Given the description of an element on the screen output the (x, y) to click on. 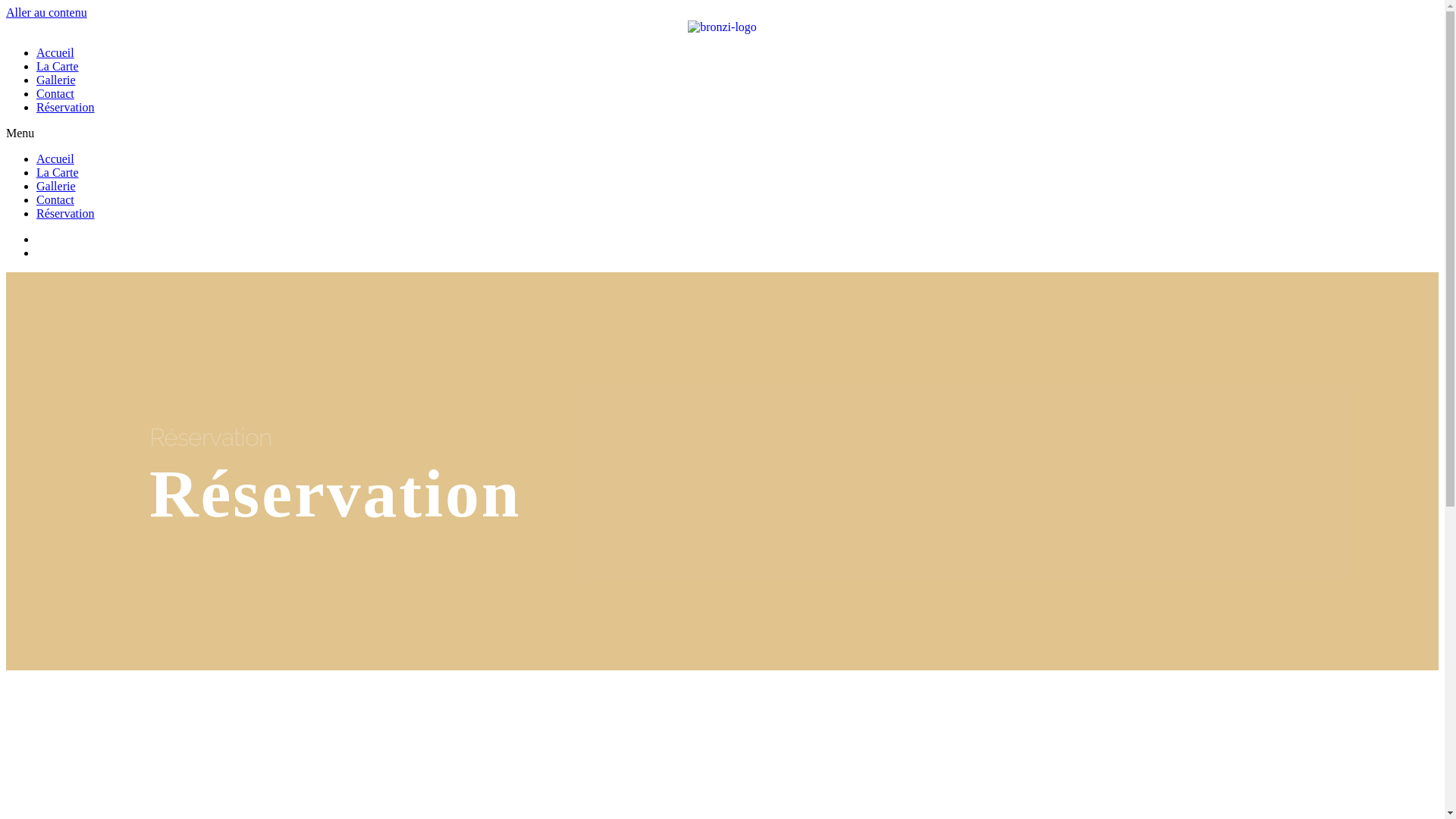
Accueil Element type: text (55, 158)
La Carte Element type: text (57, 172)
Contact Element type: text (55, 199)
Accueil Element type: text (55, 52)
Contact Element type: text (55, 93)
La Carte Element type: text (57, 65)
bronzi-logo Element type: hover (721, 27)
Aller au contenu Element type: text (46, 12)
Gallerie Element type: text (55, 185)
Gallerie Element type: text (55, 79)
